Given the description of an element on the screen output the (x, y) to click on. 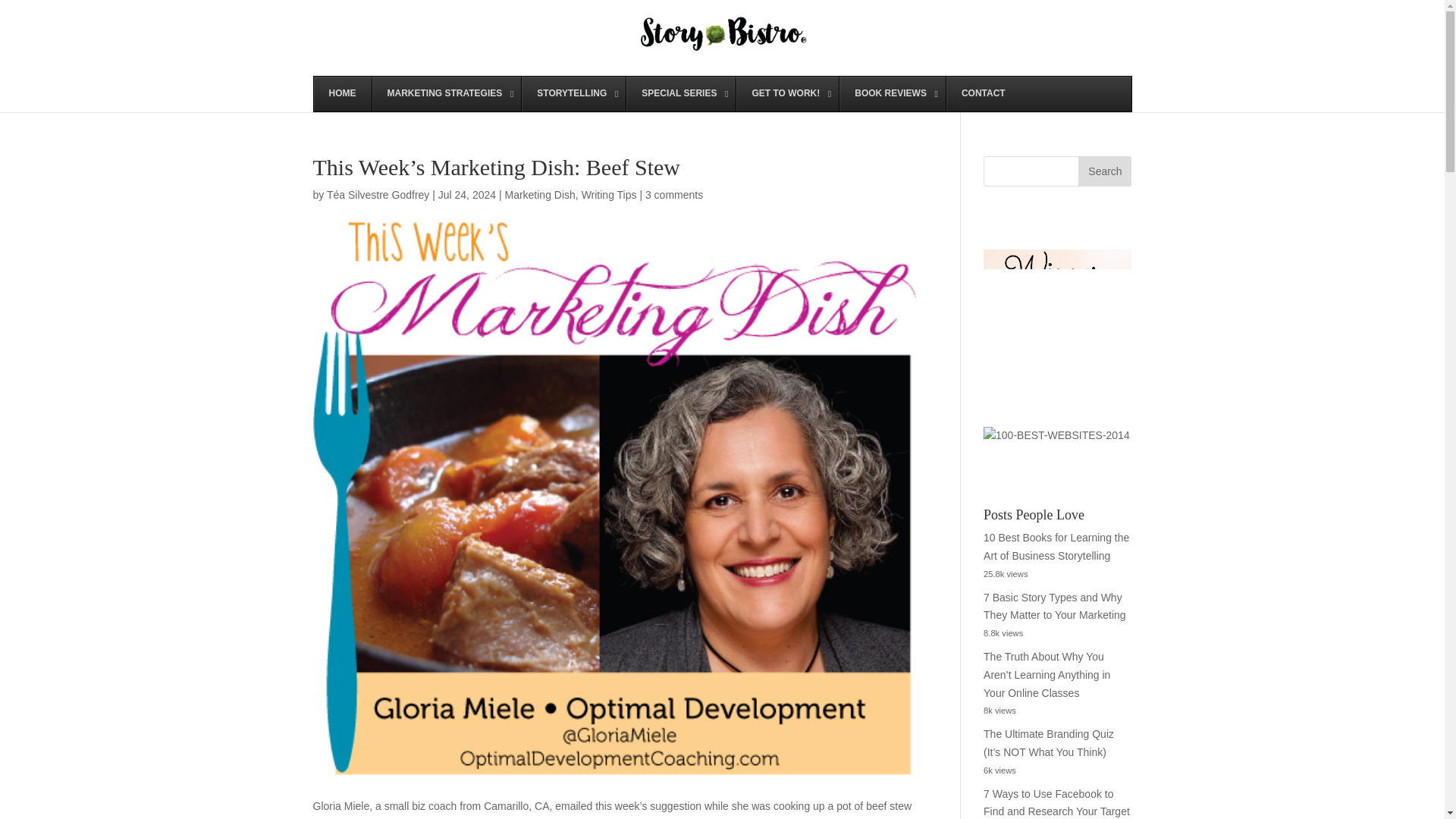
3 comments (674, 194)
Search (1104, 171)
Marketing Dish (539, 194)
HOME (342, 93)
SPECIAL SERIES (680, 93)
MARKETING STRATEGIES (446, 93)
CONTACT (982, 93)
Writing Tips (608, 194)
BOOK REVIEWS (891, 93)
